Given the description of an element on the screen output the (x, y) to click on. 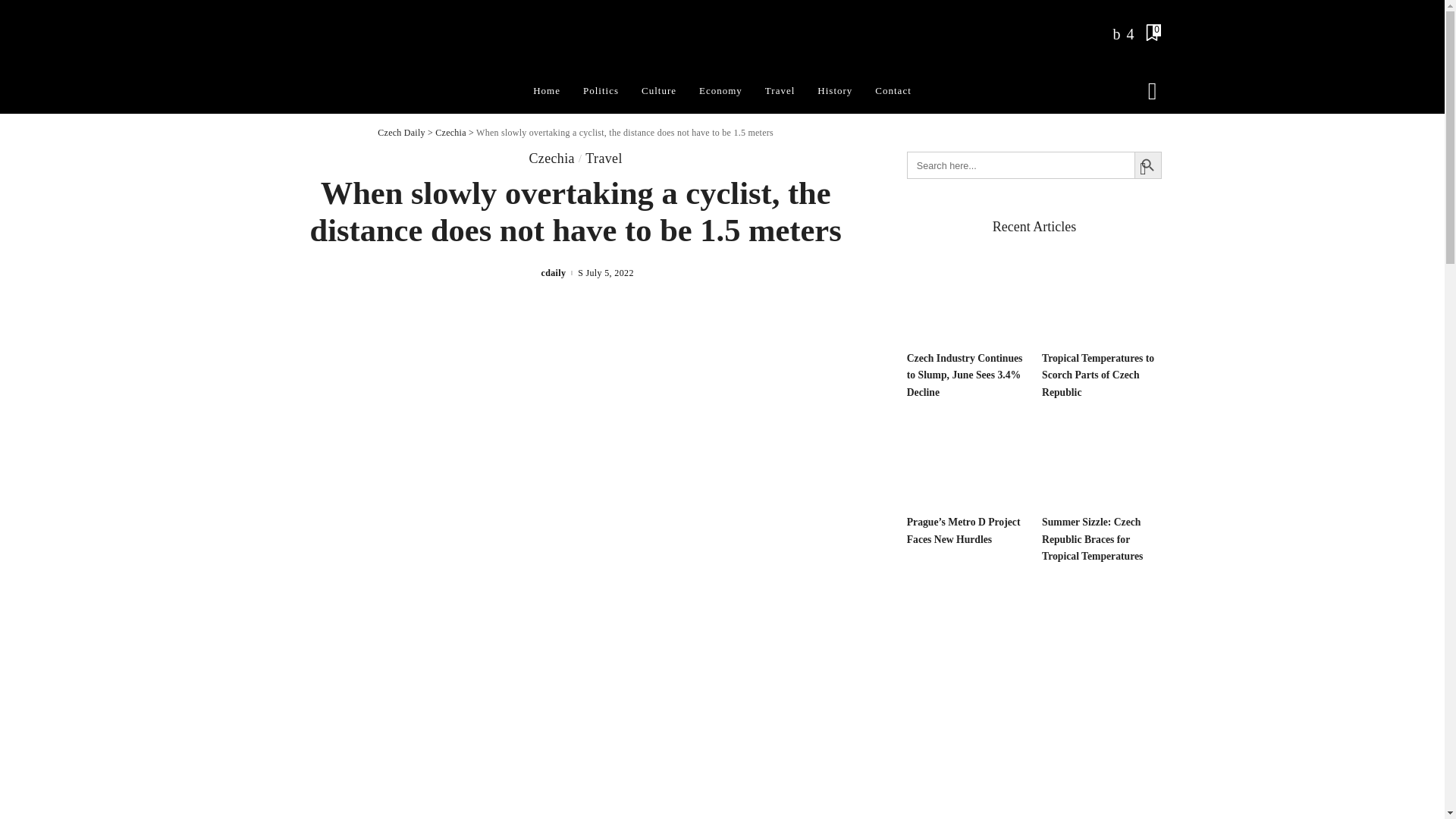
Culture (658, 90)
Politics (601, 90)
Home (546, 90)
History (834, 90)
Contact (892, 90)
Travel (780, 90)
Economy (720, 90)
